Given the description of an element on the screen output the (x, y) to click on. 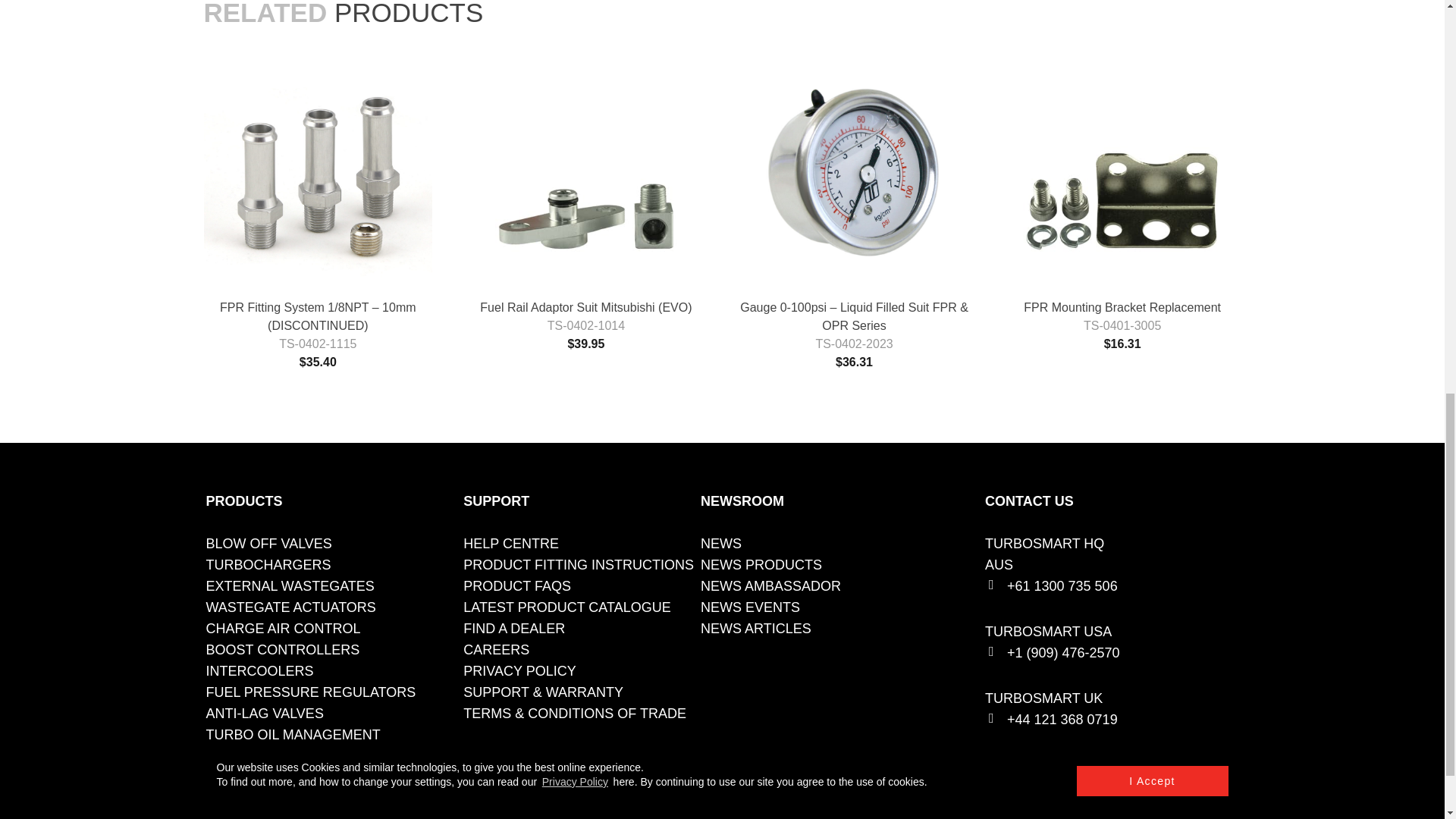
Privacy Policy (519, 670)
